Given the description of an element on the screen output the (x, y) to click on. 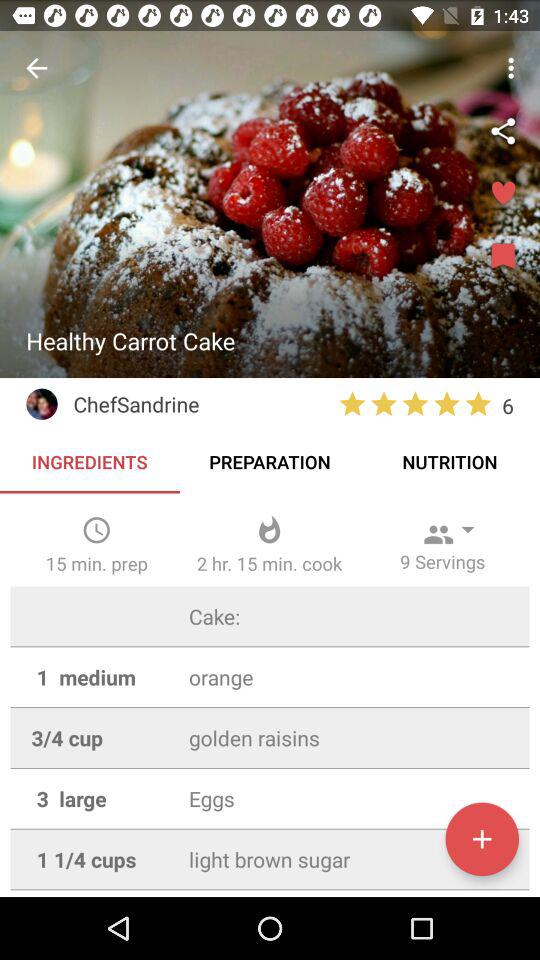
go back (36, 68)
